Given the description of an element on the screen output the (x, y) to click on. 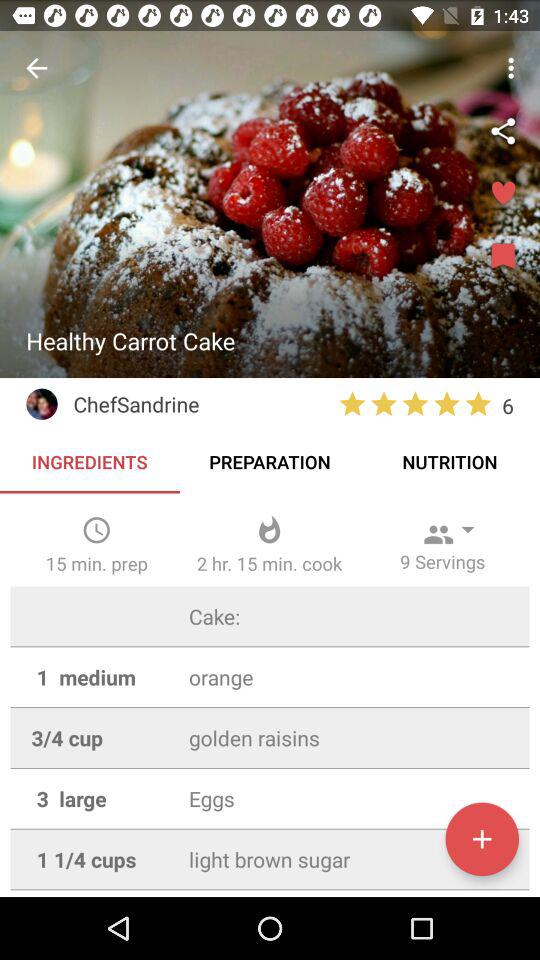
go back (36, 68)
